Given the description of an element on the screen output the (x, y) to click on. 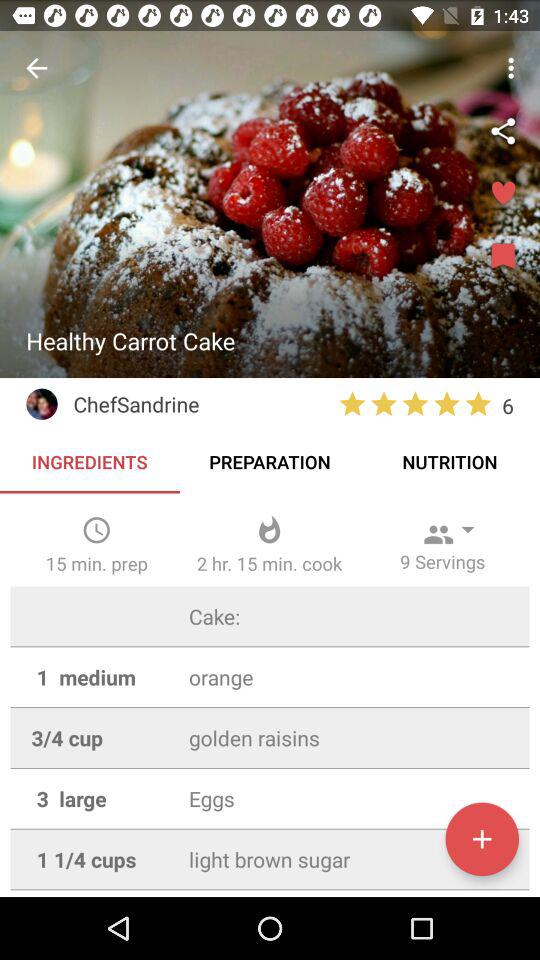
go back (36, 68)
